Given the description of an element on the screen output the (x, y) to click on. 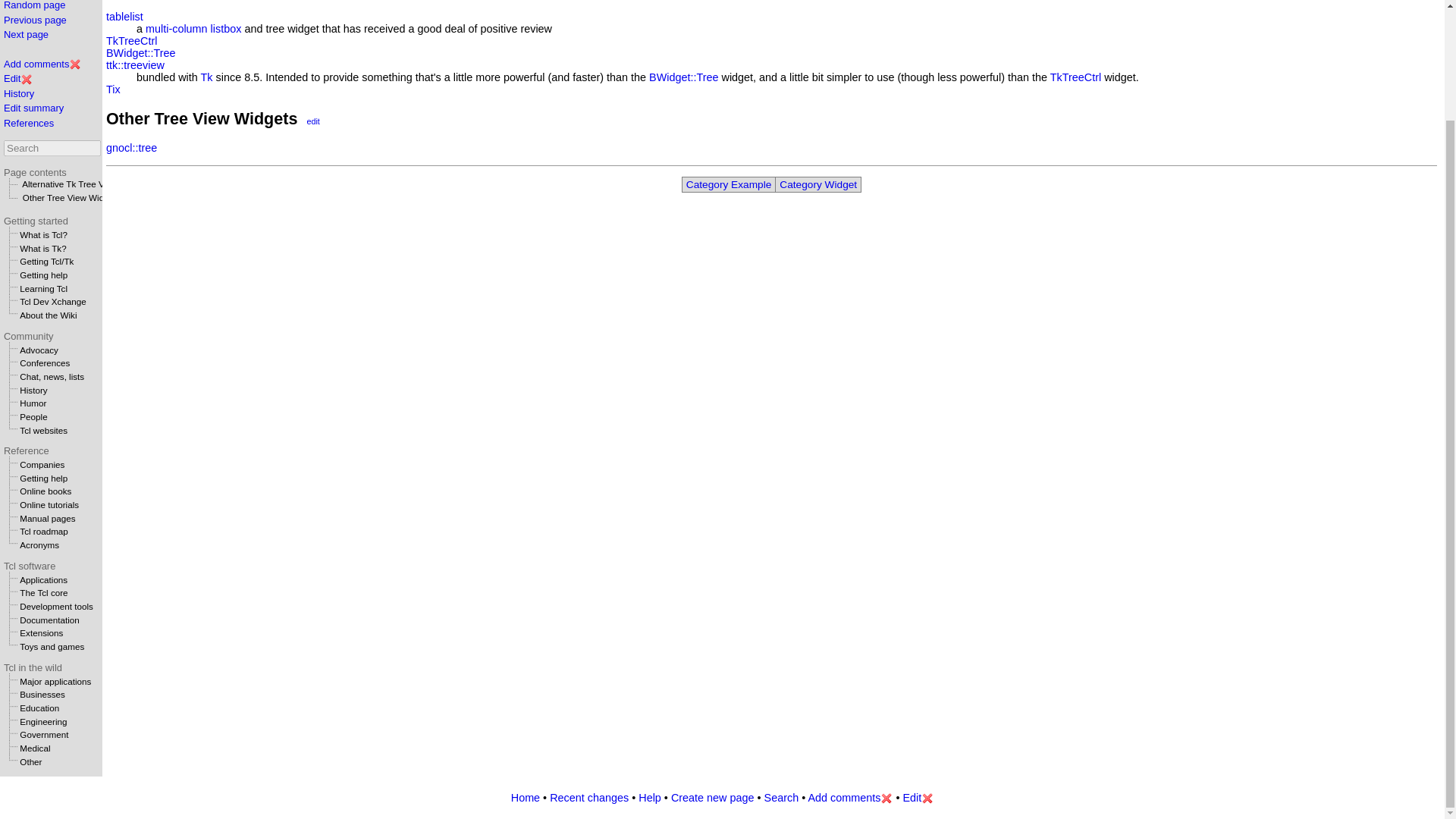
Random page (34, 5)
 Alternative Tk Tree View Widgets  (87, 184)
tablelist (124, 16)
multi-column (176, 28)
Tk (206, 77)
BWidget::Tree (683, 77)
TkTreeCtrl (131, 40)
Edit (12, 78)
ttk::treeview (135, 64)
Search (52, 148)
